Given the description of an element on the screen output the (x, y) to click on. 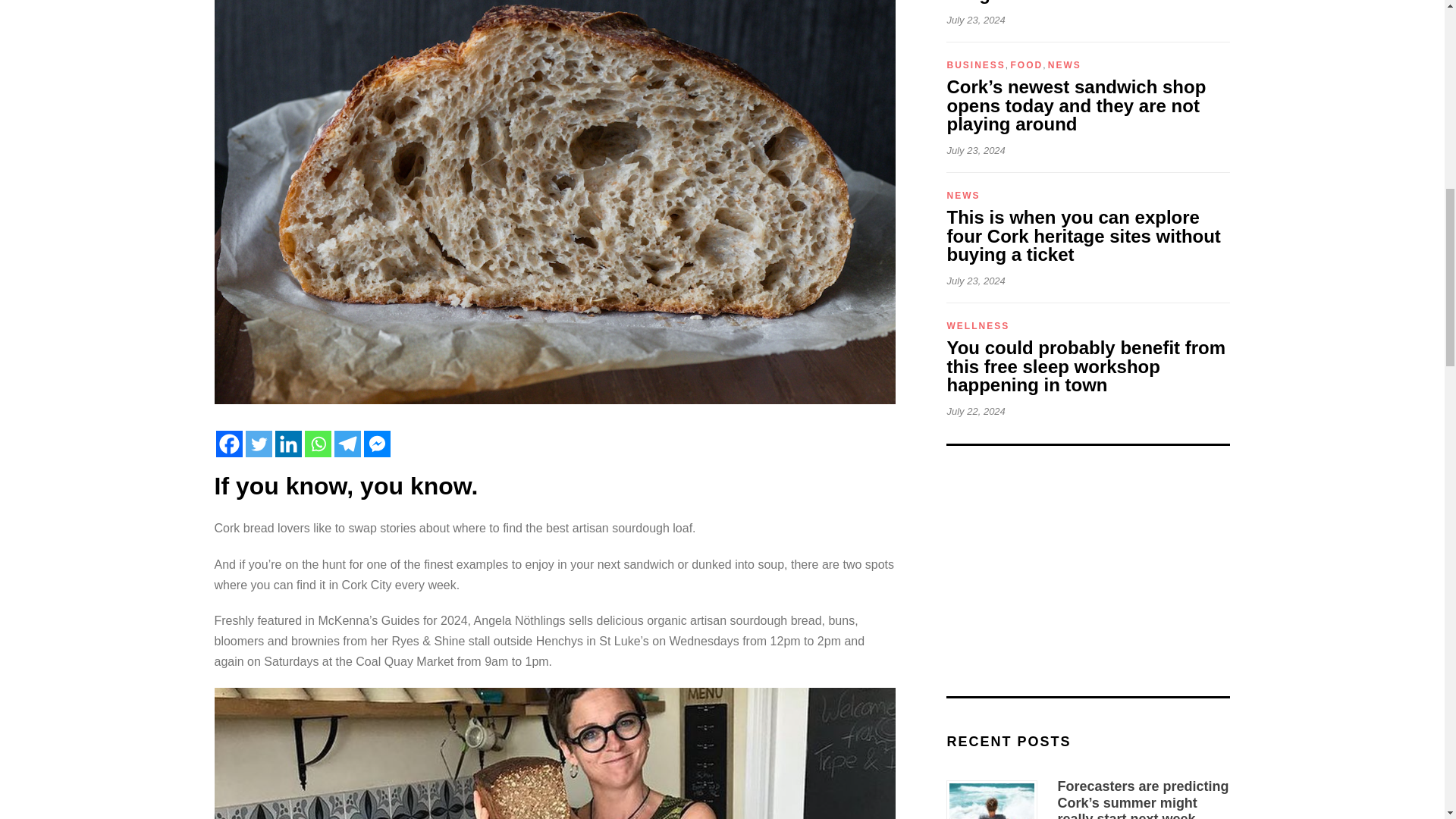
Telegram (346, 443)
Facebook (228, 443)
Twitter (259, 443)
Linkedin (288, 443)
Whatsapp (317, 443)
